Given the description of an element on the screen output the (x, y) to click on. 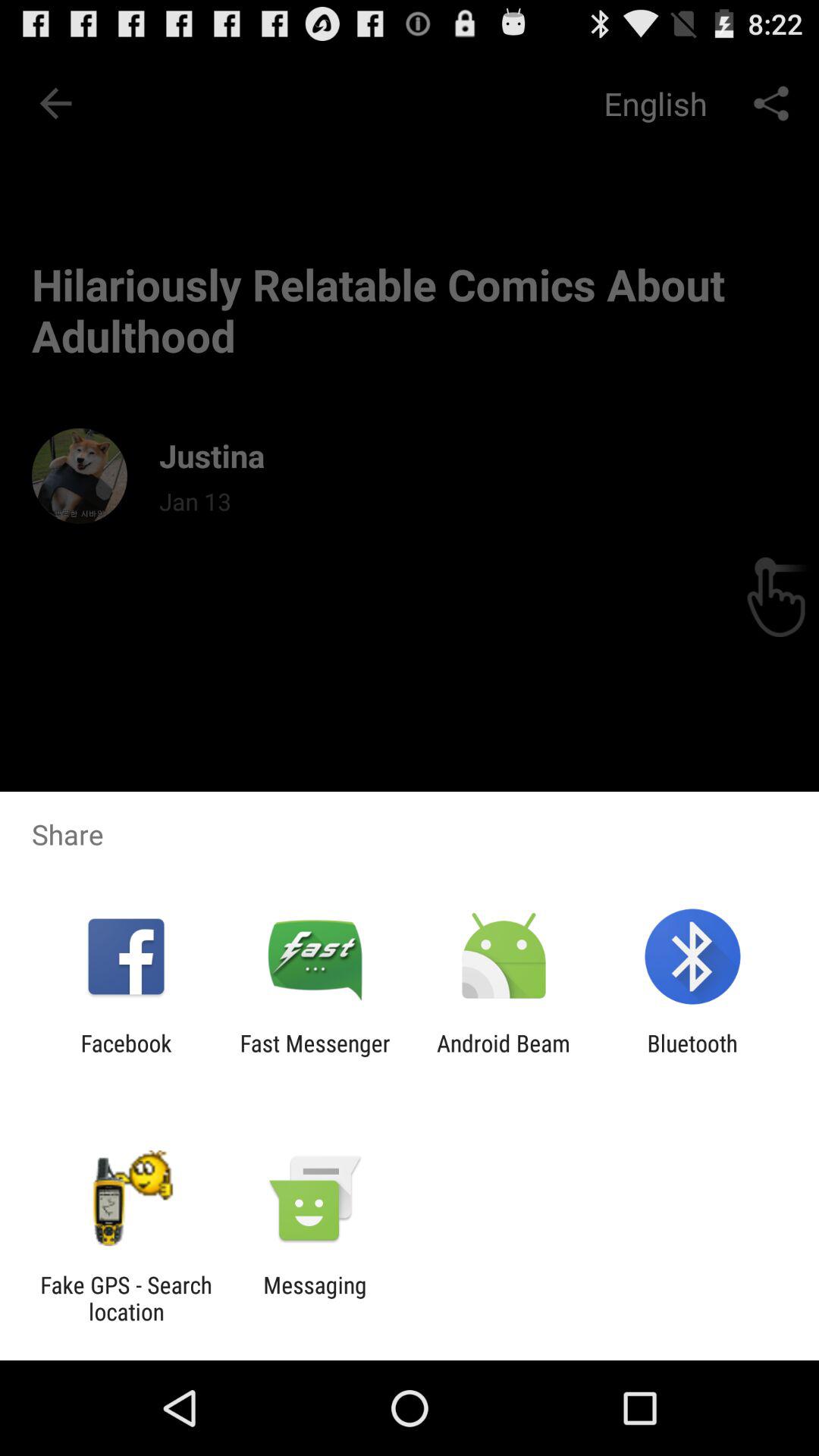
open fake gps search app (125, 1298)
